Given the description of an element on the screen output the (x, y) to click on. 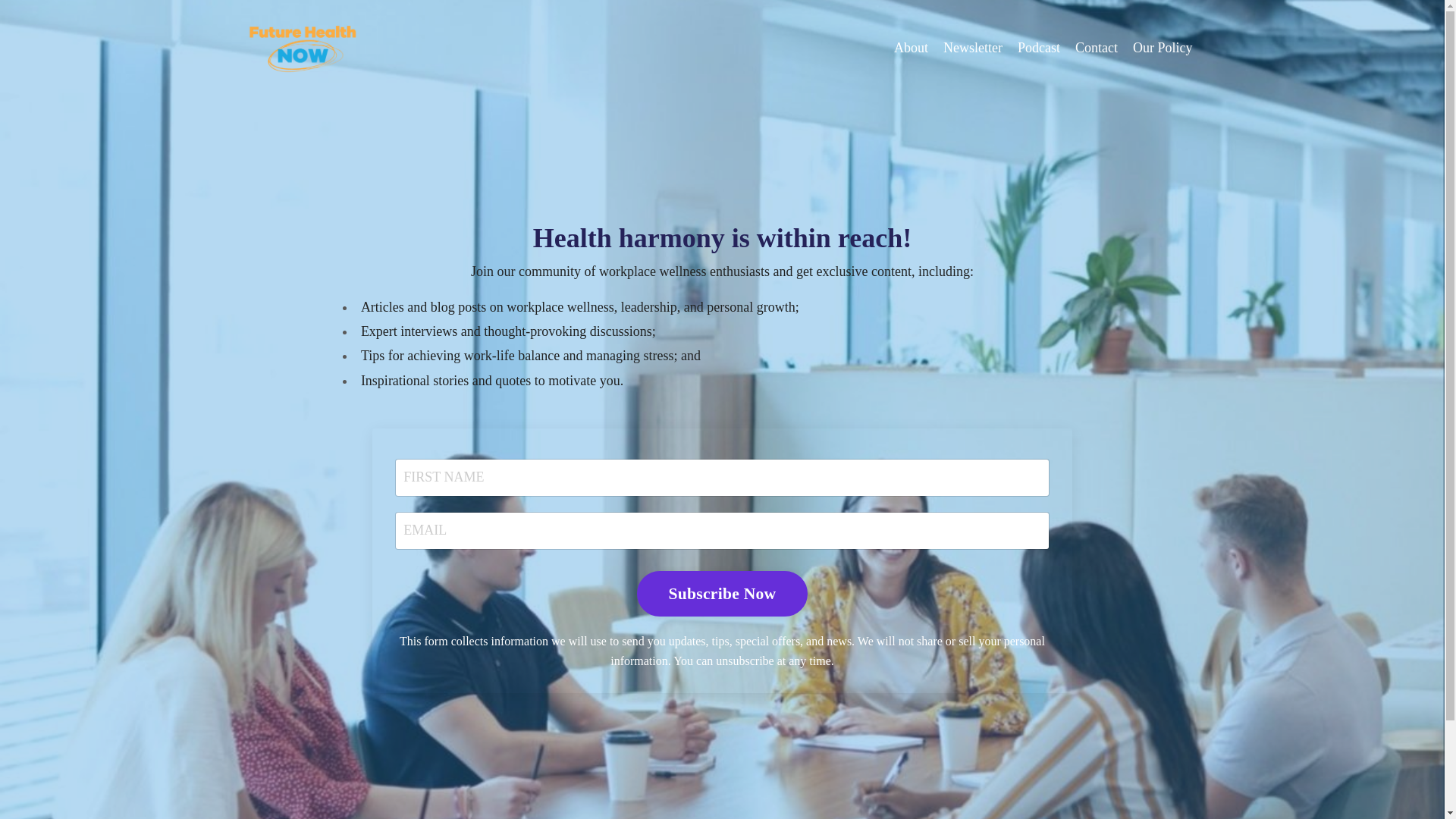
About (910, 47)
Our Policy (1162, 47)
Podcast (1038, 47)
Subscribe Now (722, 593)
Newsletter (973, 47)
Contact (1096, 47)
